Given the description of an element on the screen output the (x, y) to click on. 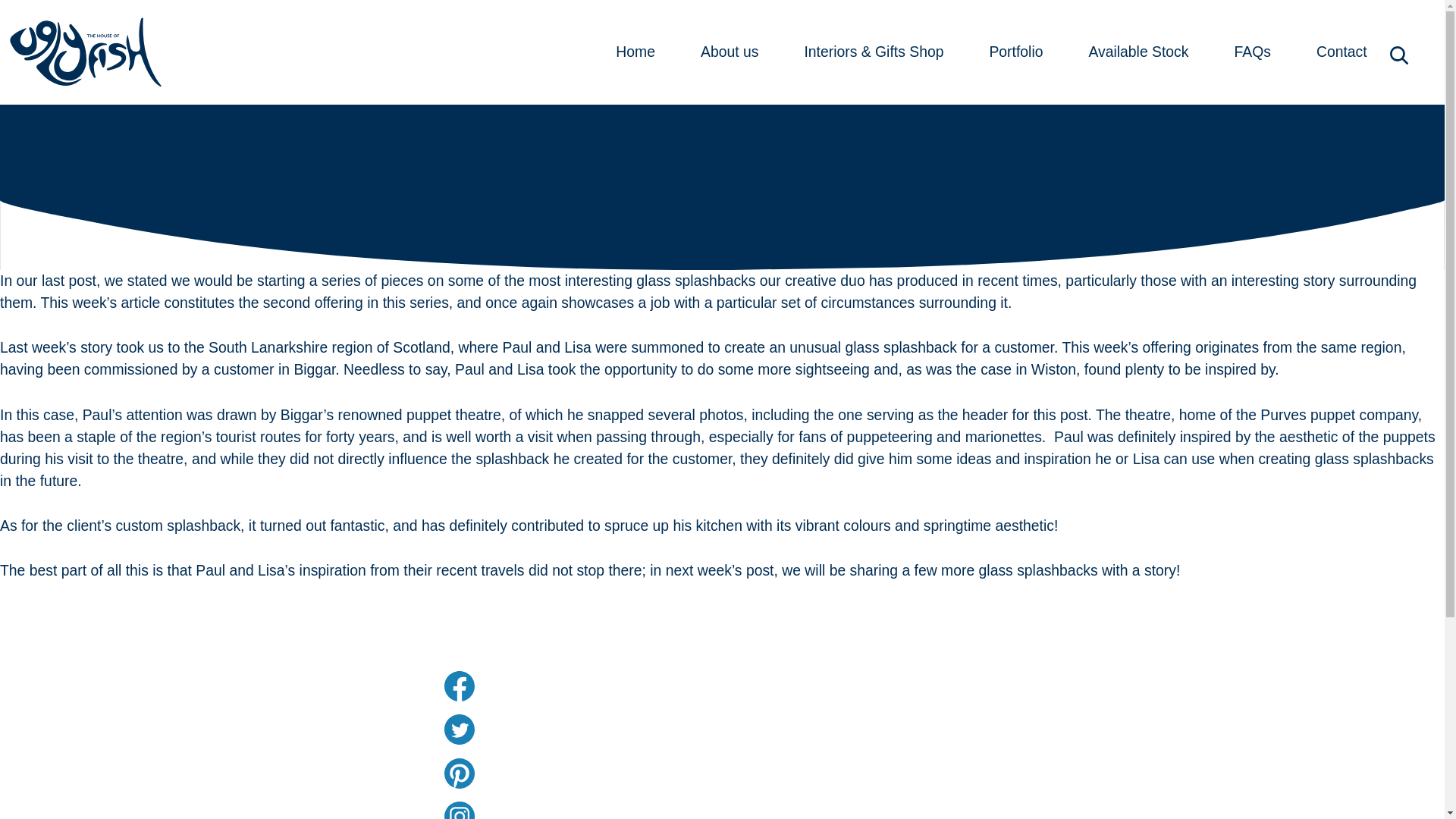
About us (290, 711)
Portfolio (1015, 51)
Pin us on Pinterest (626, 773)
Find us on Facebook (626, 685)
FAQs (290, 741)
Follow us on Twitter (626, 729)
Available Stock (290, 771)
Gift Vouchers (290, 800)
Contact (1342, 51)
Follow us on instagram (626, 810)
About us (729, 51)
Contact (290, 681)
01407 728 228 (906, 771)
Home (635, 51)
Available Stock (1138, 51)
